Given the description of an element on the screen output the (x, y) to click on. 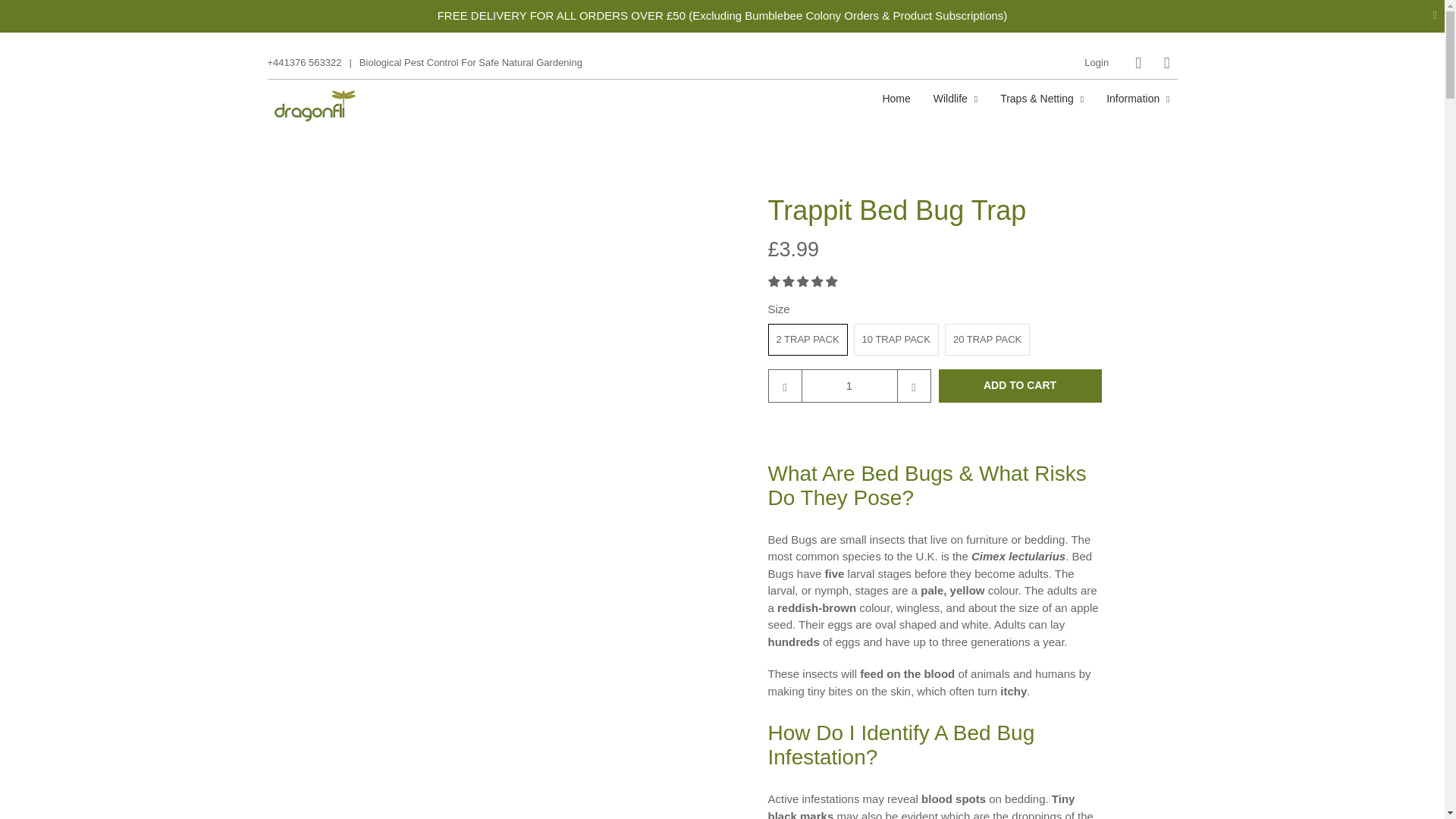
Home (896, 97)
Information (1137, 97)
My Account  (1096, 61)
1 (848, 385)
Wildlife (955, 97)
Login (1096, 61)
